Given the description of an element on the screen output the (x, y) to click on. 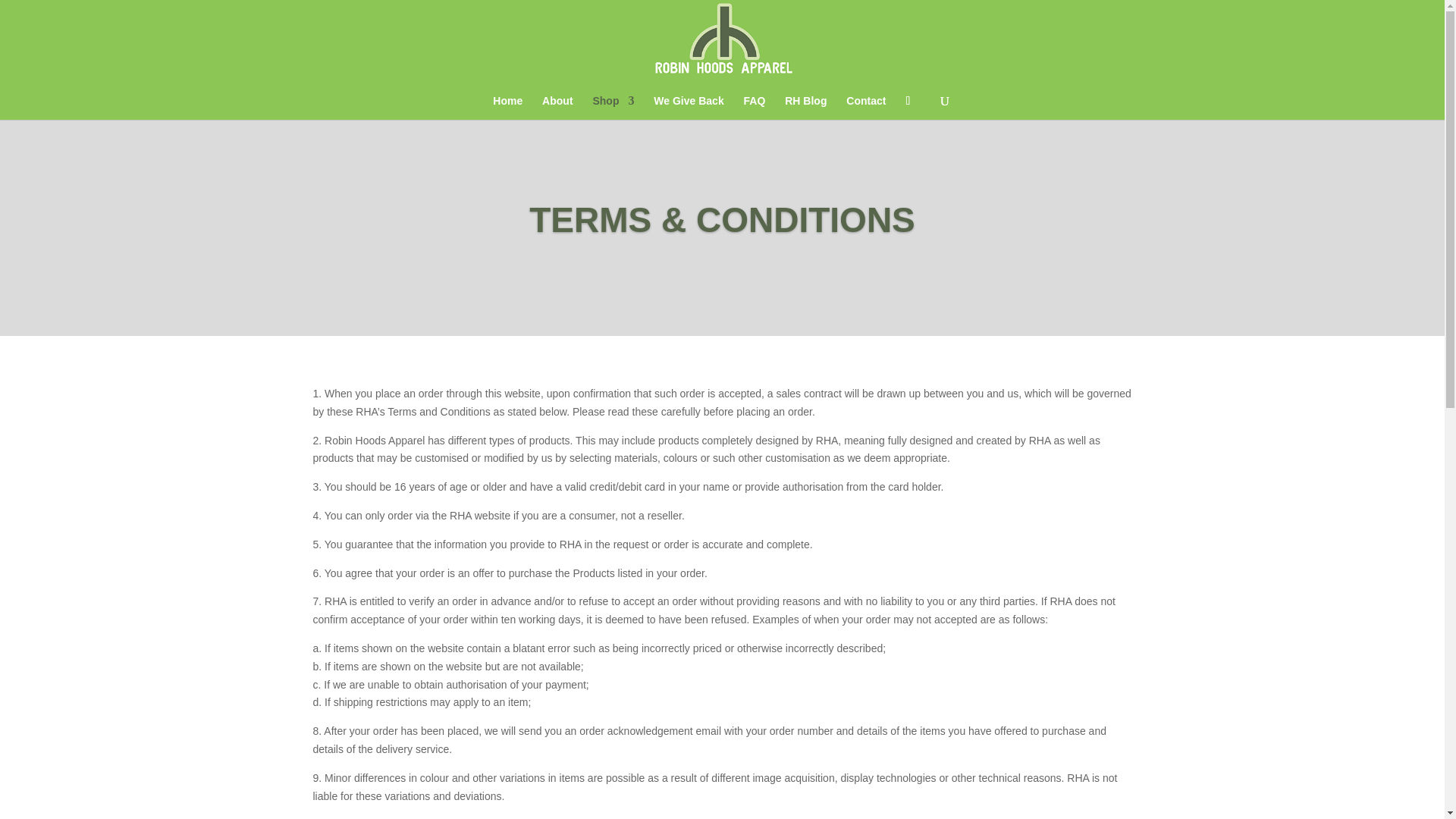
Contact (865, 107)
About (556, 107)
We Give Back (688, 107)
FAQ (754, 107)
RH Blog (805, 107)
Shop (612, 107)
Home (507, 107)
